Given the description of an element on the screen output the (x, y) to click on. 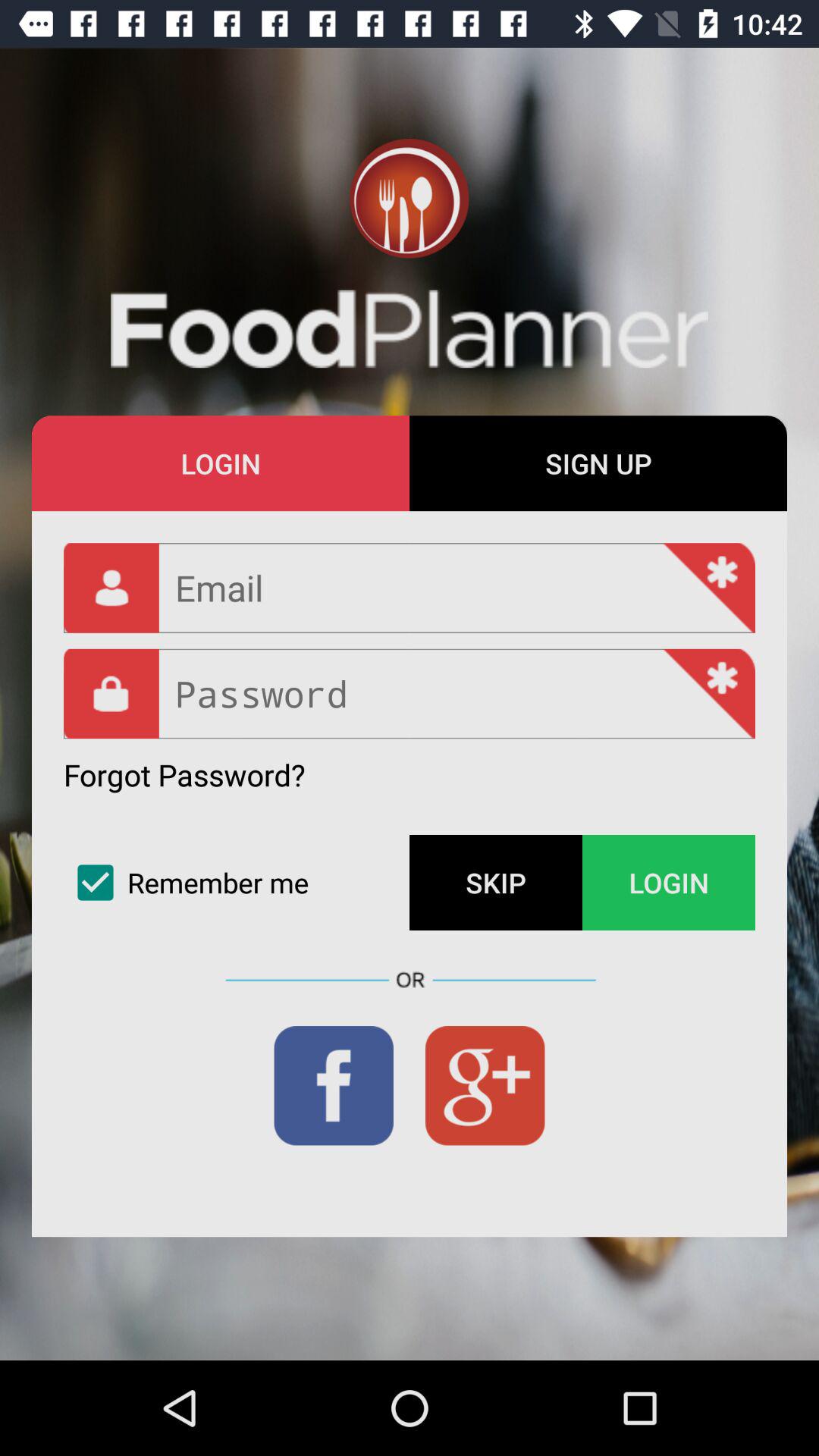
press item to the left of skip (236, 882)
